Given the description of an element on the screen output the (x, y) to click on. 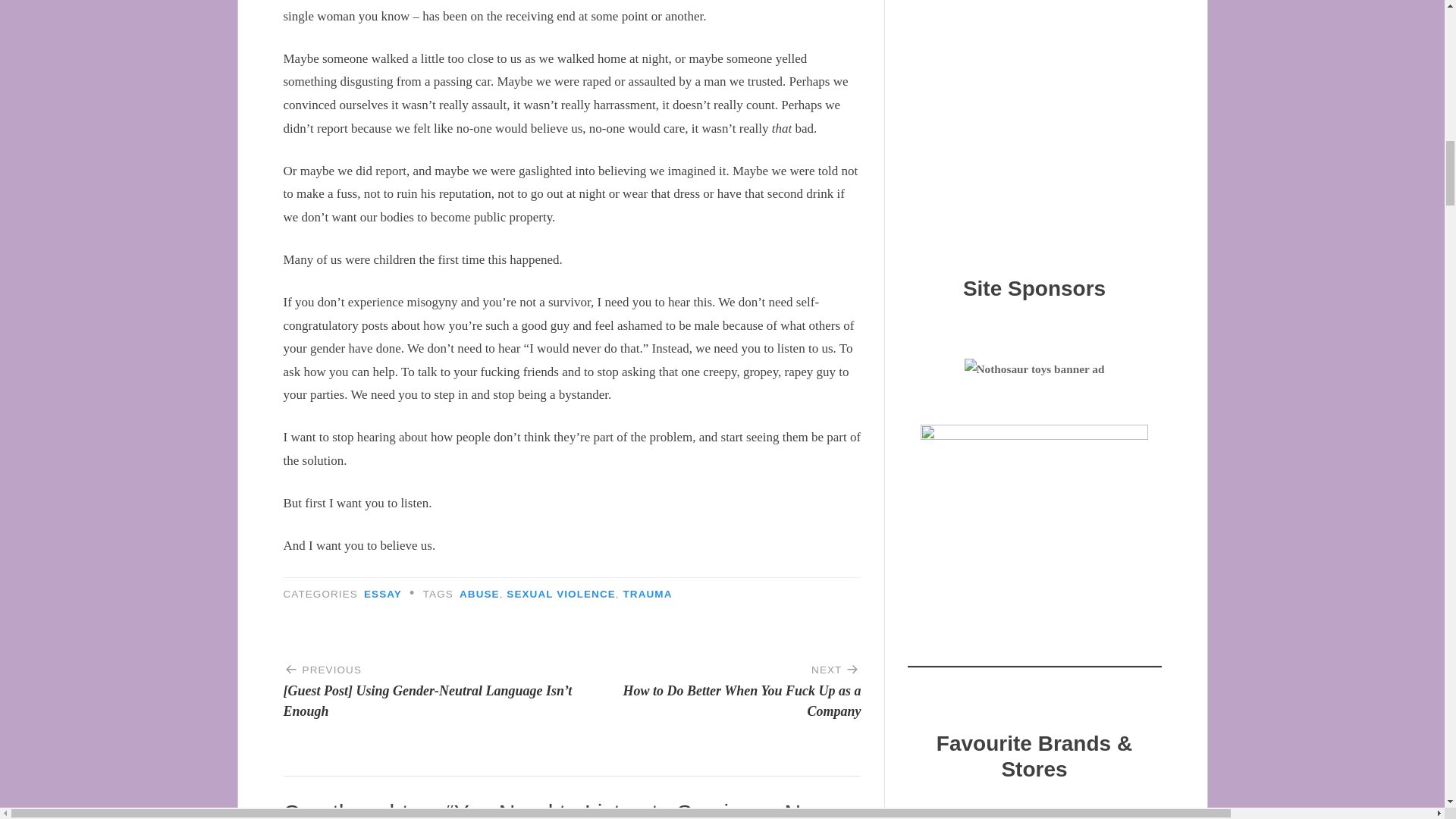
SEXUAL VIOLENCE (560, 593)
TRAUMA (647, 593)
ABUSE (479, 593)
ESSAY (716, 684)
